Given the description of an element on the screen output the (x, y) to click on. 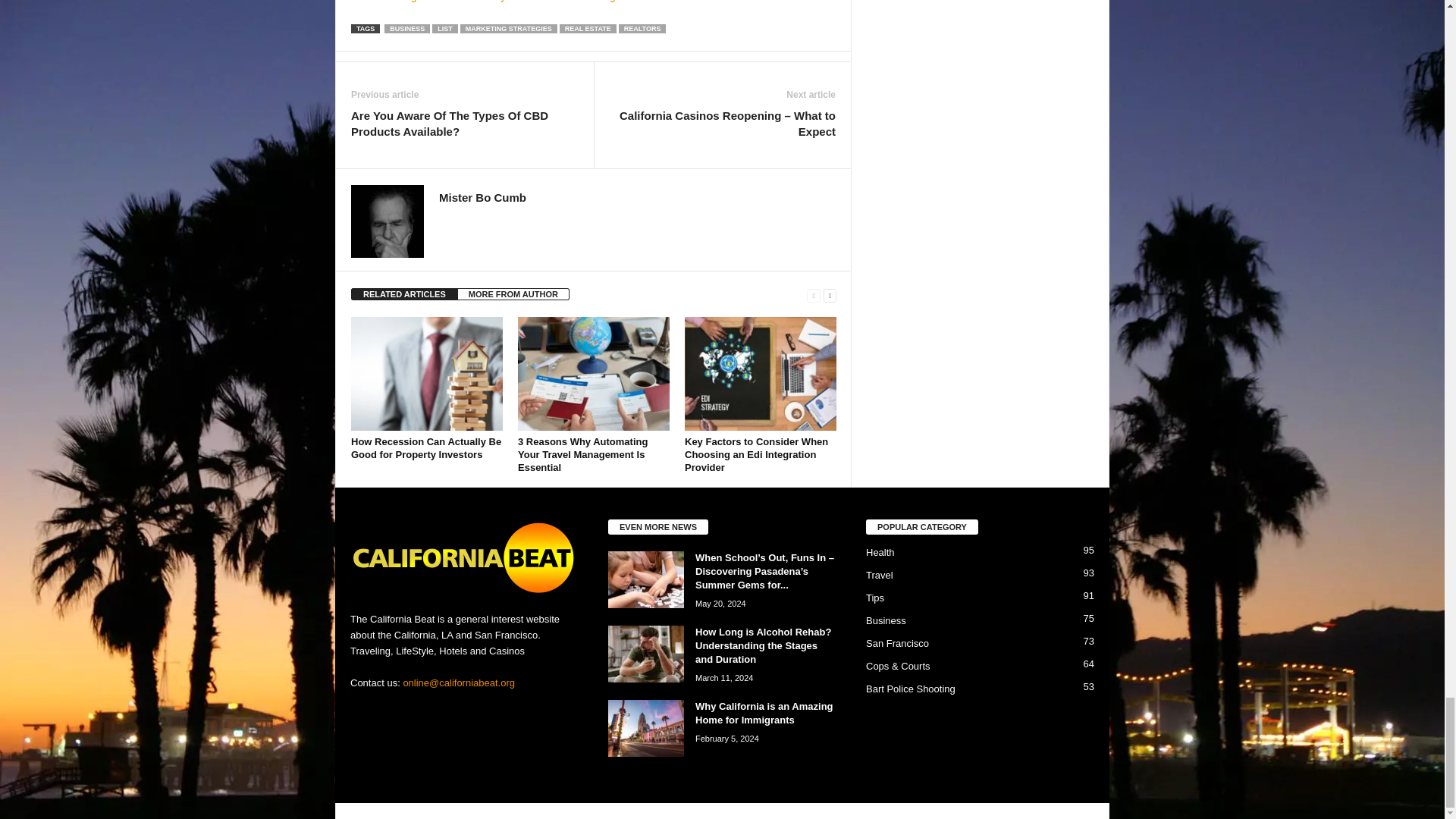
How Recession Can Actually Be Good for Property Investors (425, 447)
3 Reasons Why Automating Your Travel Management Is Essential (582, 454)
How Recession Can Actually Be Good for Property Investors (426, 373)
3 Reasons Why Automating Your Travel Management Is Essential (593, 373)
